Given the description of an element on the screen output the (x, y) to click on. 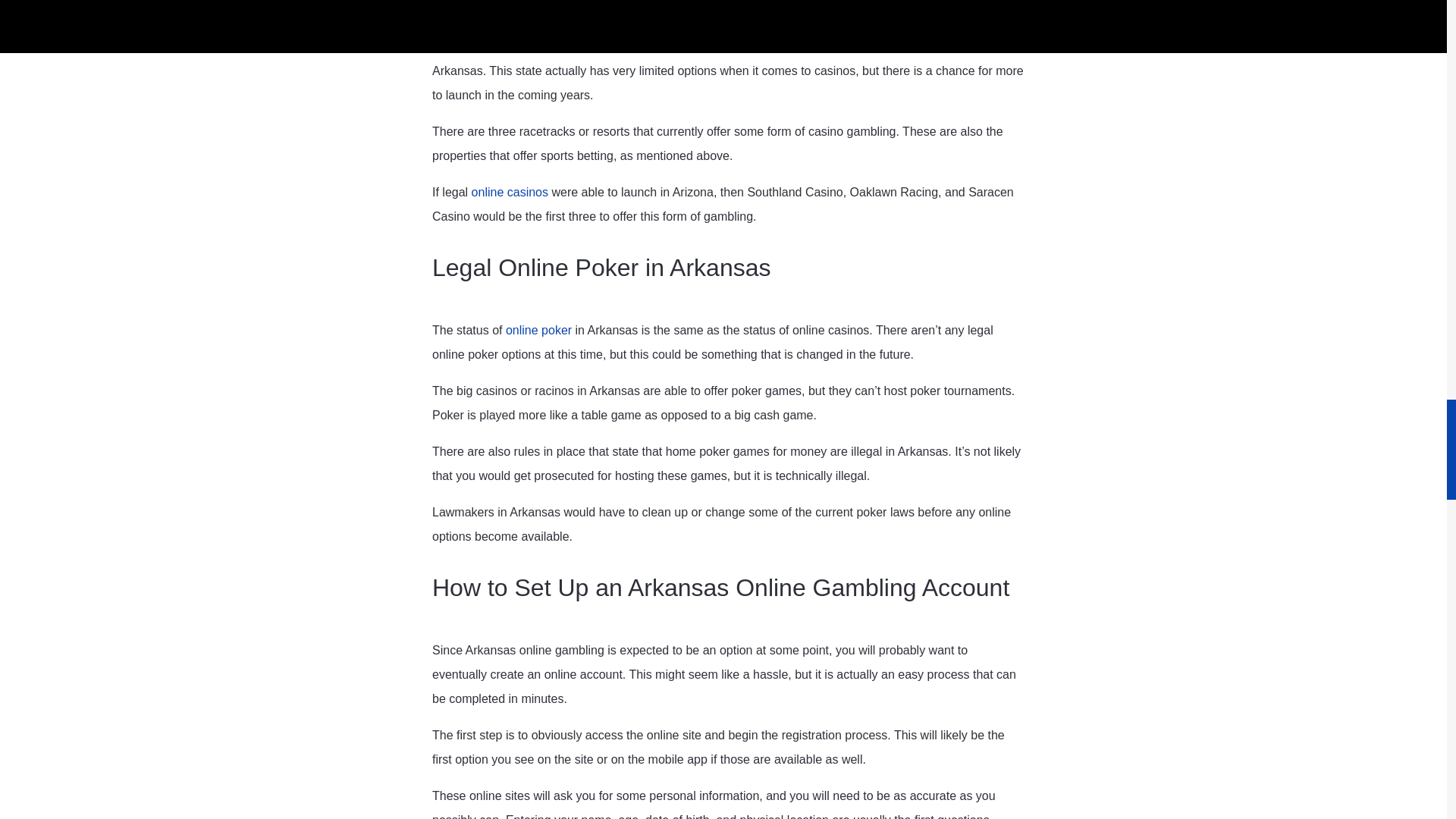
online poker (538, 329)
online casinos (509, 191)
